Given the description of an element on the screen output the (x, y) to click on. 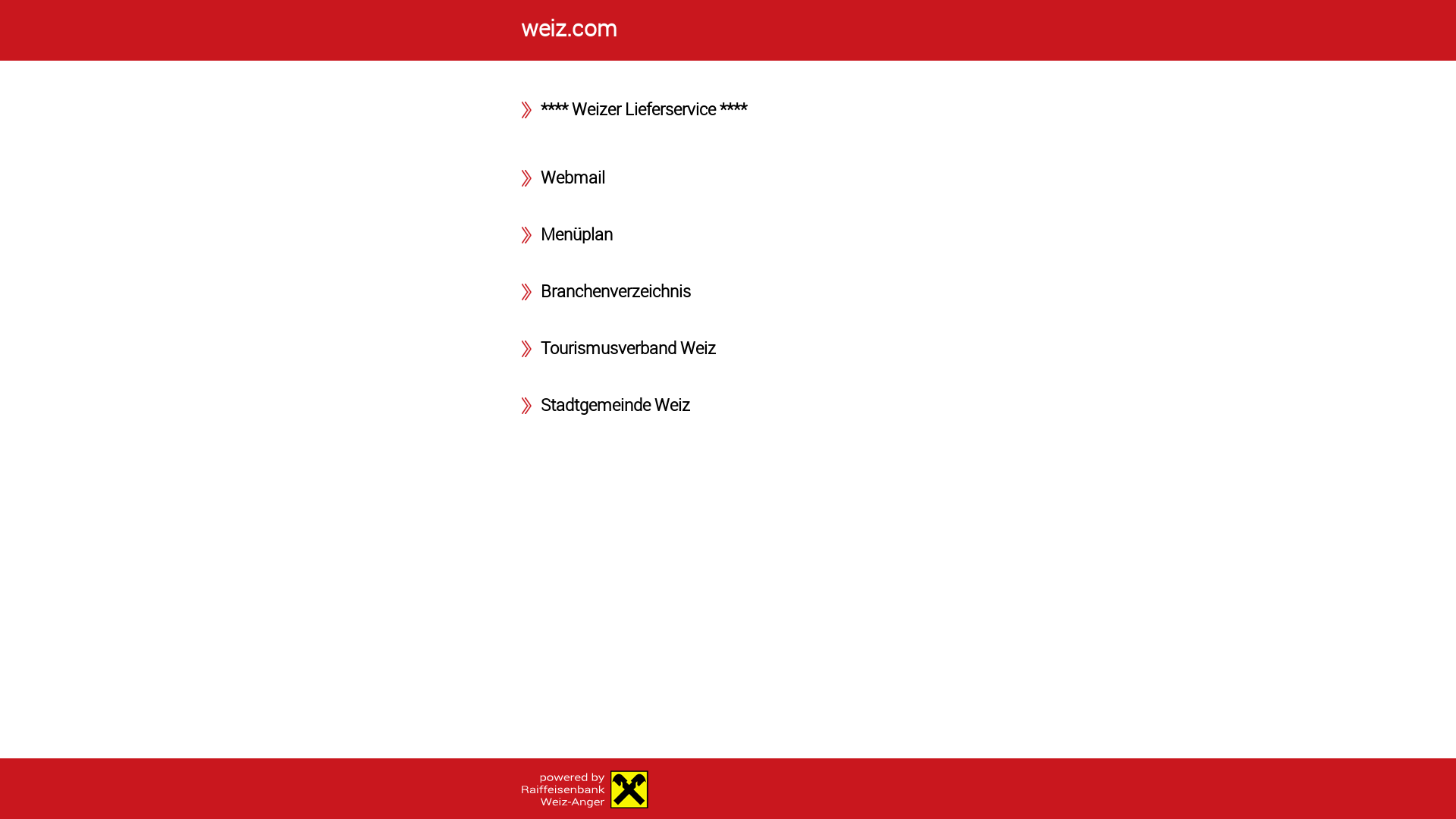
Tourismusverband Weiz Element type: text (627, 347)
Stadtgemeinde Weiz Element type: text (615, 404)
Branchenverzeichnis Element type: text (615, 290)
**** Weizer Lieferservice **** Element type: text (643, 108)
Webmail Element type: text (572, 177)
